Given the description of an element on the screen output the (x, y) to click on. 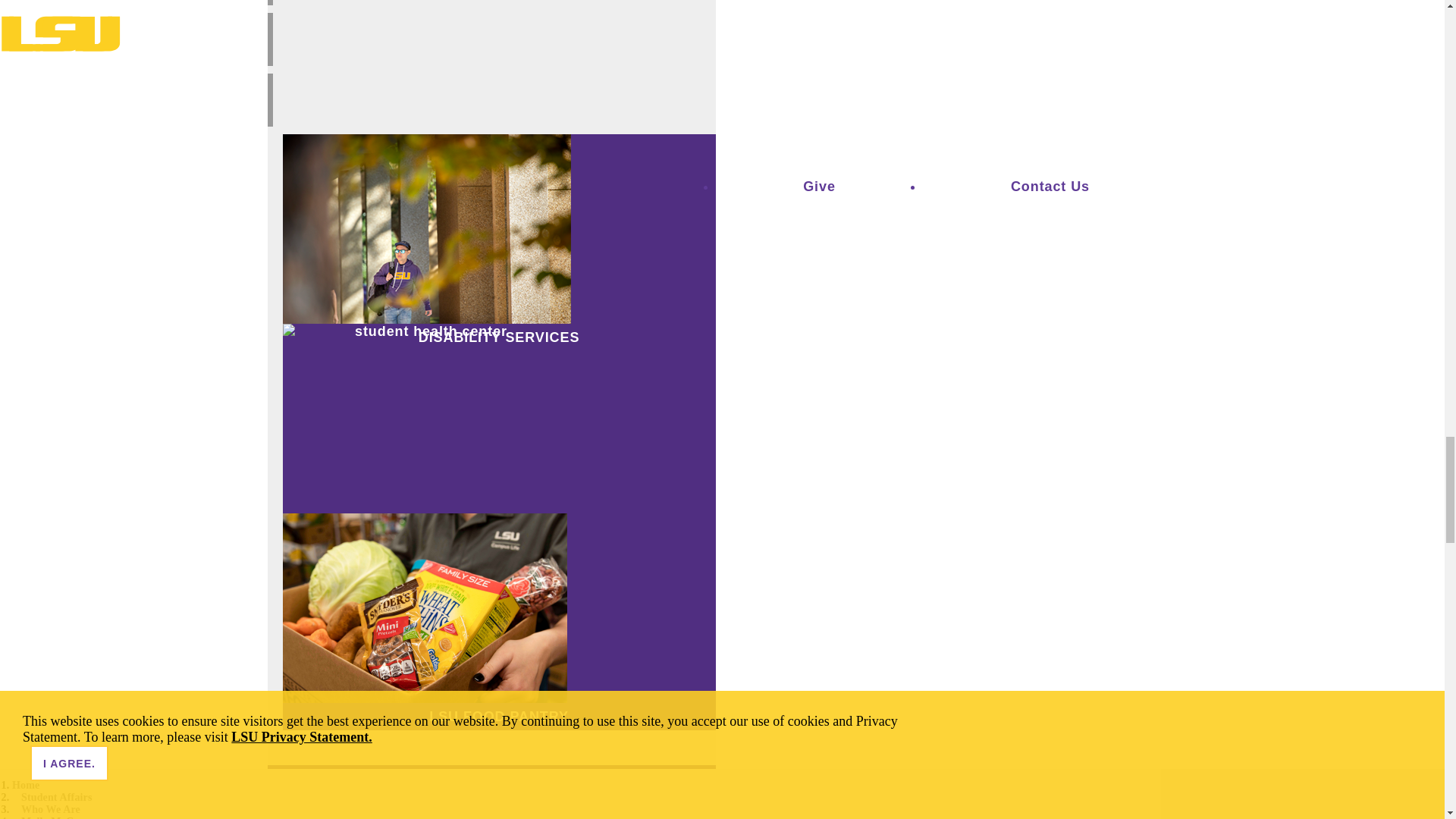
DISABILITY SERVICES (498, 337)
